Given the description of an element on the screen output the (x, y) to click on. 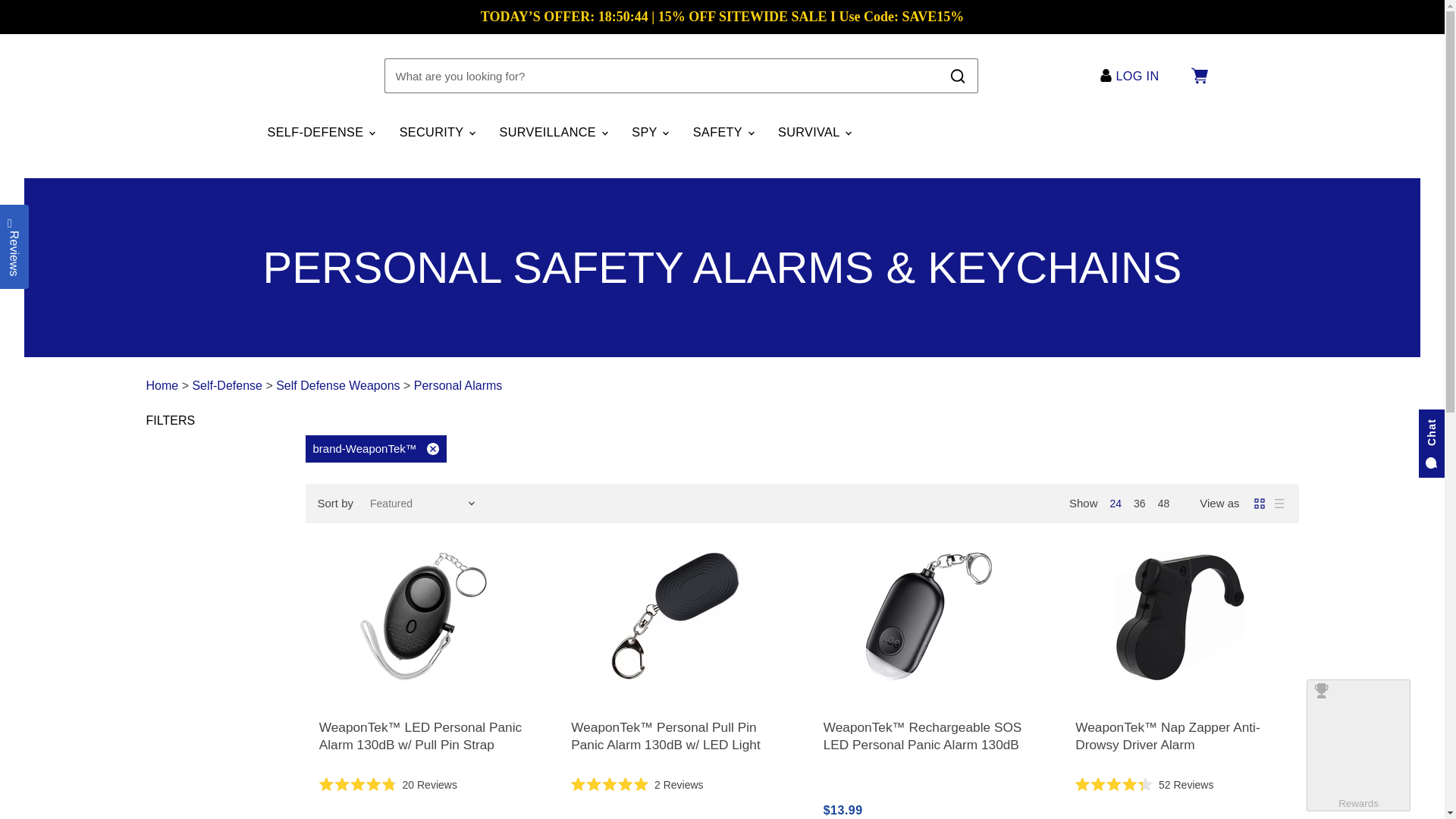
ACCOUNT ICON LOG IN (1133, 75)
List icon (1278, 503)
Grid icon (1258, 503)
SELF-DEFENSE (320, 132)
View cart (1199, 75)
ACCOUNT ICON (1105, 74)
